Given the description of an element on the screen output the (x, y) to click on. 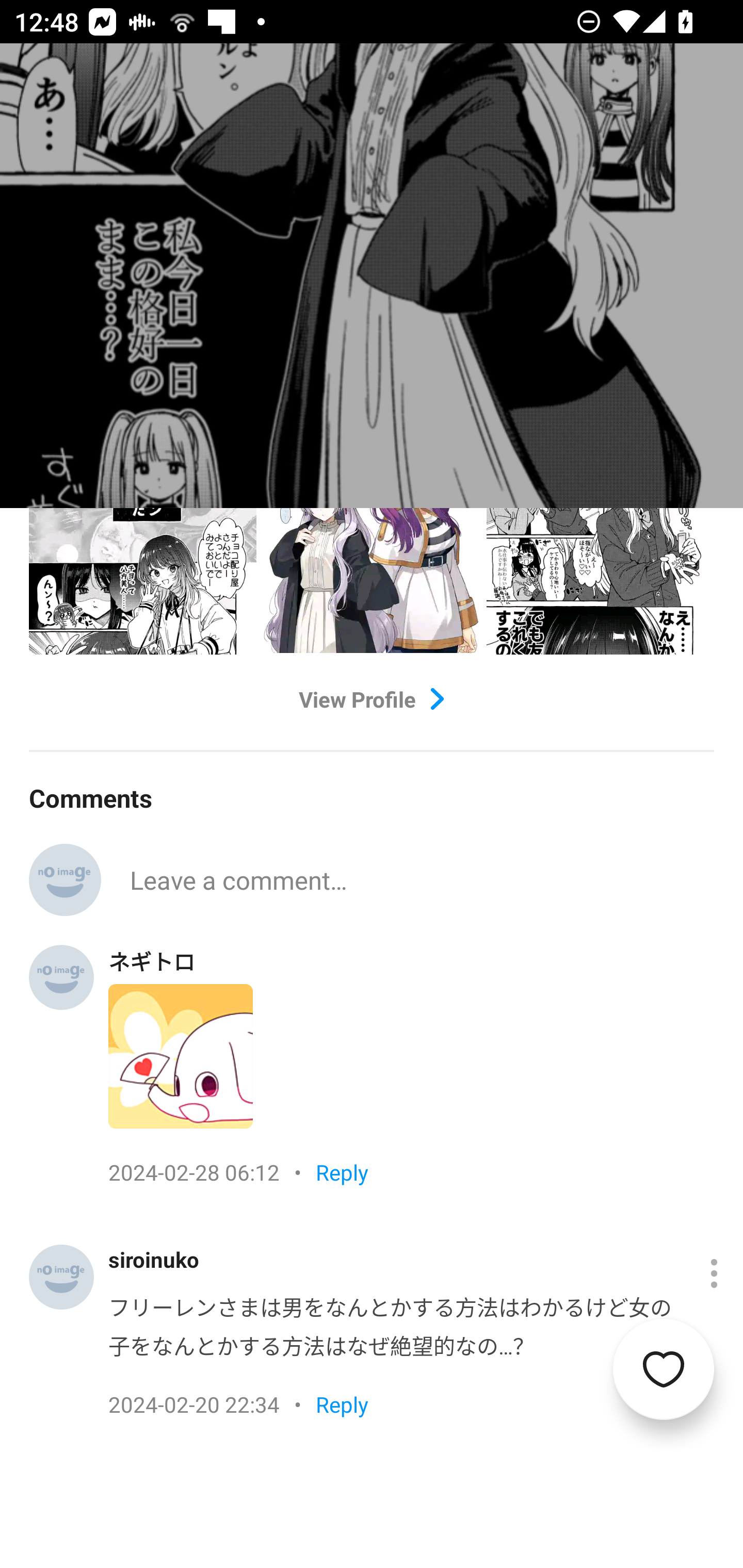
View Profile (371, 699)
Leave a comment… (422, 879)
ネギトロ (151, 960)
Reply (341, 1171)
siroinuko (153, 1258)
「…あれ何でフェルンの格好させられてるんだ。」 西沢5㍉🦀2日目西め33b (422, 1405)
Reply (341, 1404)
